Given the description of an element on the screen output the (x, y) to click on. 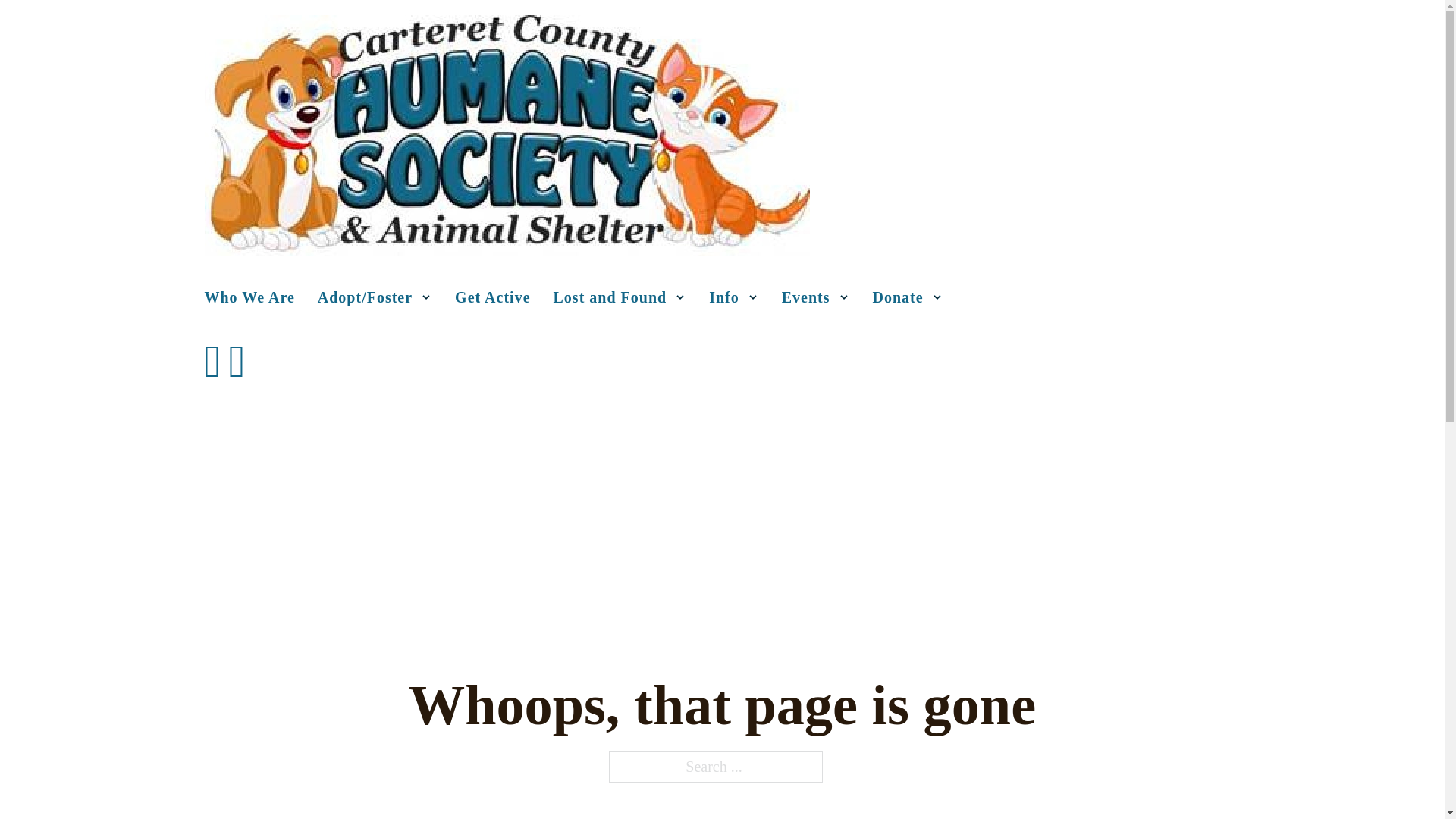
Get Active (491, 297)
Events (805, 297)
Donate (897, 297)
Who We Are (250, 297)
Lost and Found (609, 297)
